Given the description of an element on the screen output the (x, y) to click on. 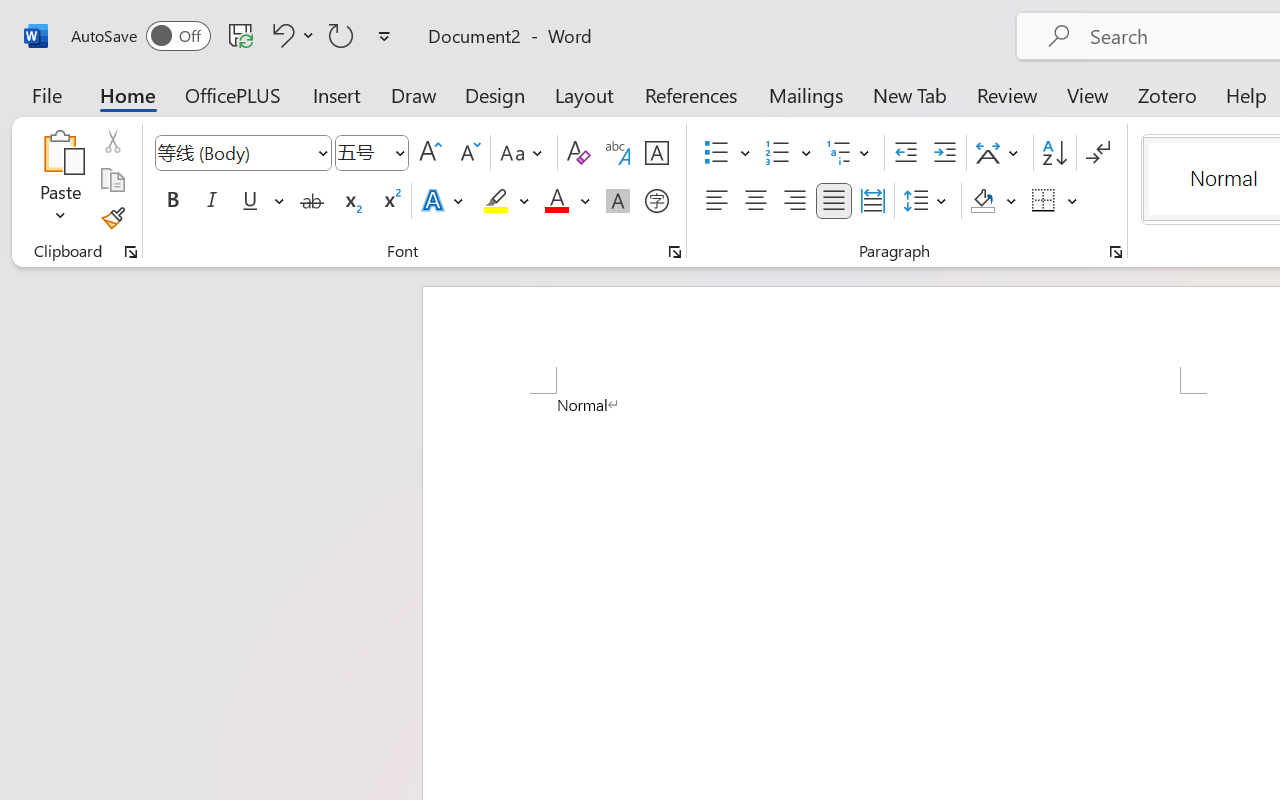
Enclose Characters... (656, 201)
AutoSave (140, 35)
Insert (337, 94)
Undo Apply Quick Style (280, 35)
Draw (413, 94)
Character Border (656, 153)
Layout (584, 94)
Shading RGB(0, 0, 0) (982, 201)
Mailings (806, 94)
Borders (1044, 201)
Copy (112, 179)
Text Highlight Color (506, 201)
New Tab (909, 94)
Grow Font (430, 153)
Text Highlight Color Yellow (495, 201)
